Given the description of an element on the screen output the (x, y) to click on. 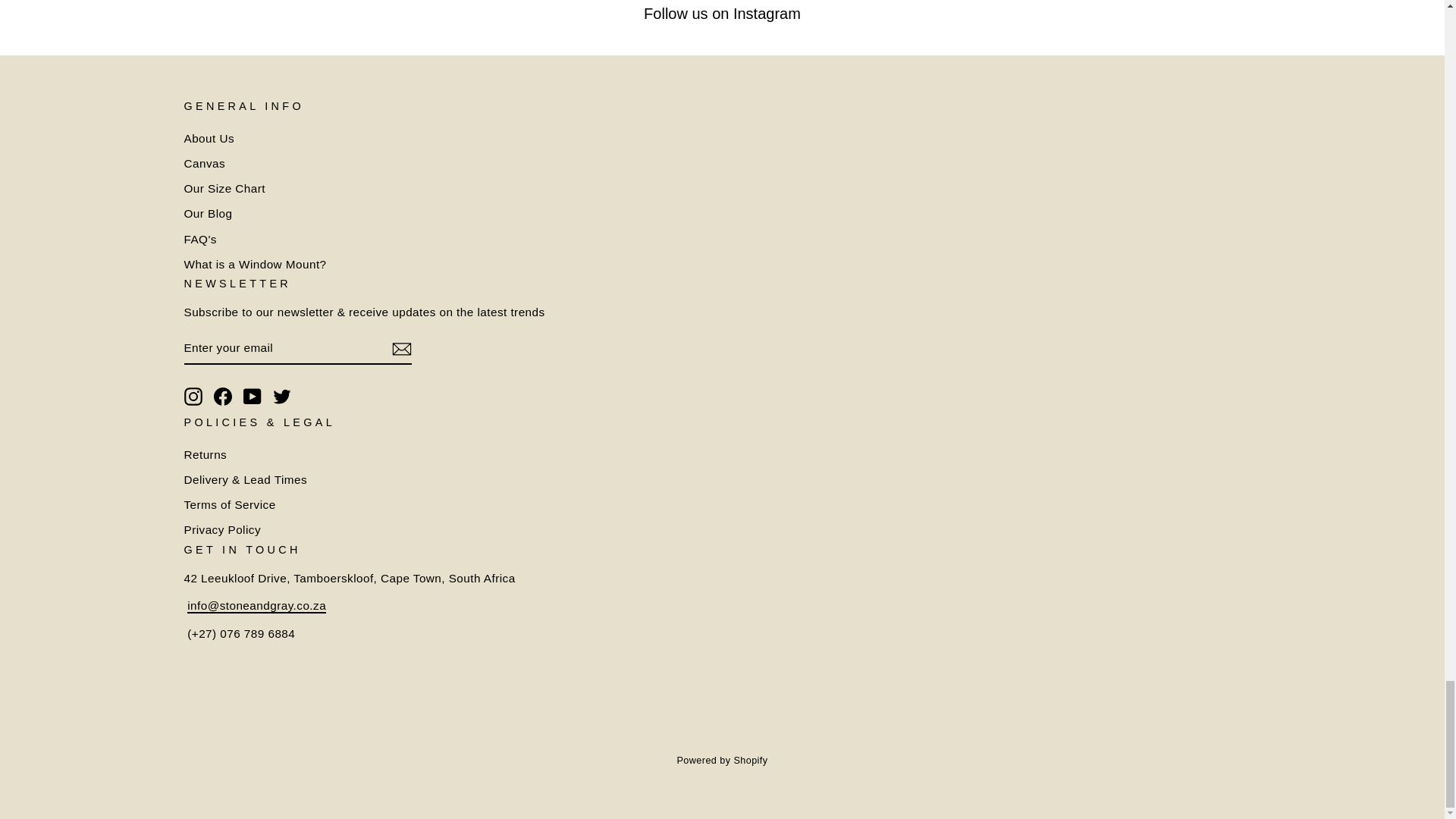
Stone and Gray on Instagram (192, 396)
Stone and Gray on Twitter (282, 396)
Stone and Gray on YouTube (251, 396)
Stone and Gray on Facebook (222, 396)
